Given the description of an element on the screen output the (x, y) to click on. 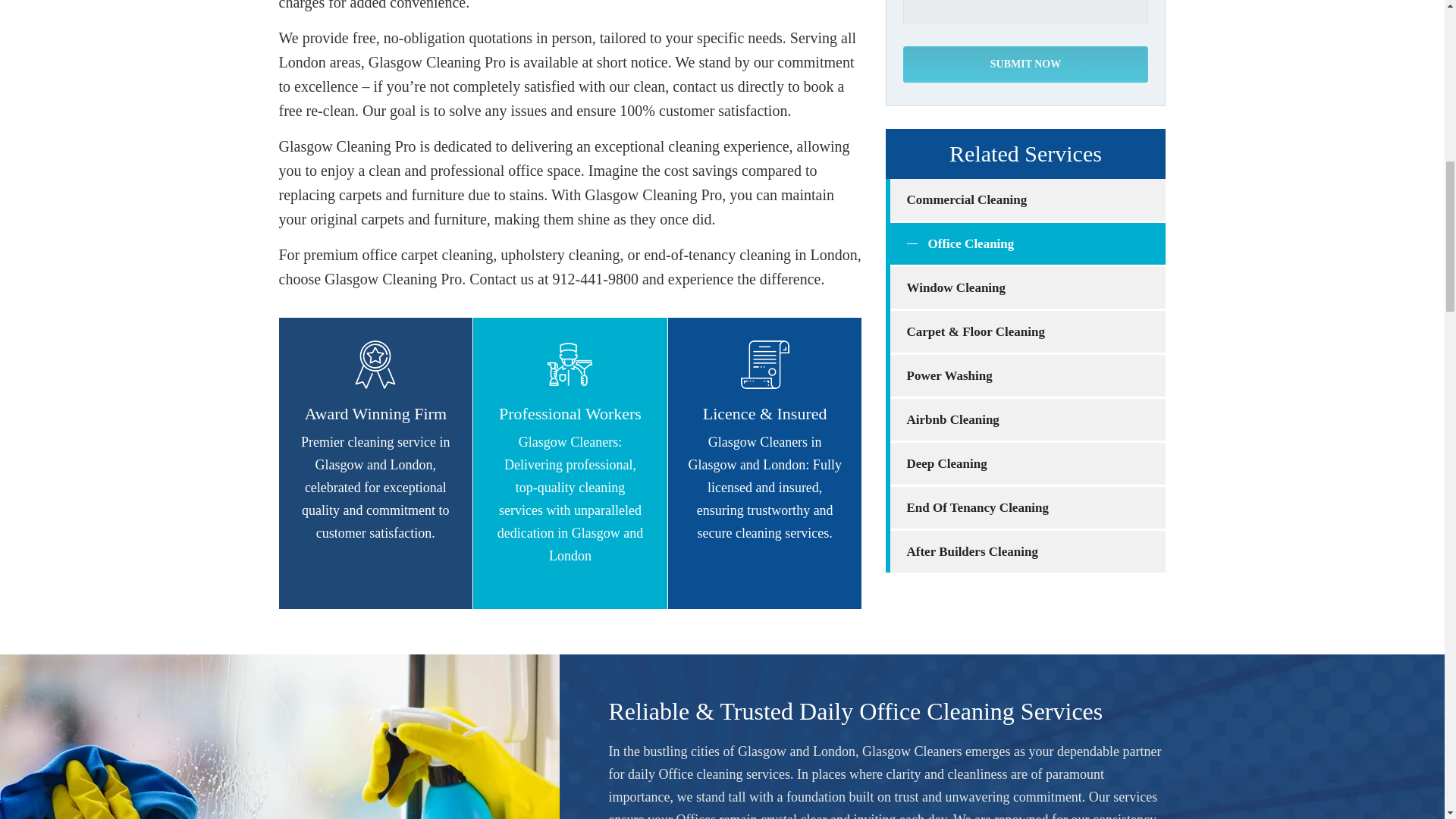
Office Cleaning (1027, 243)
Power Washing (1027, 375)
Airbnb Cleaning (1027, 419)
Window Cleaning (1027, 287)
Deep Cleaning (1027, 463)
Commercial Cleaning (1027, 199)
SUBMIT NOW (1025, 63)
End Of Tenancy Cleaning (1027, 507)
